Given the description of an element on the screen output the (x, y) to click on. 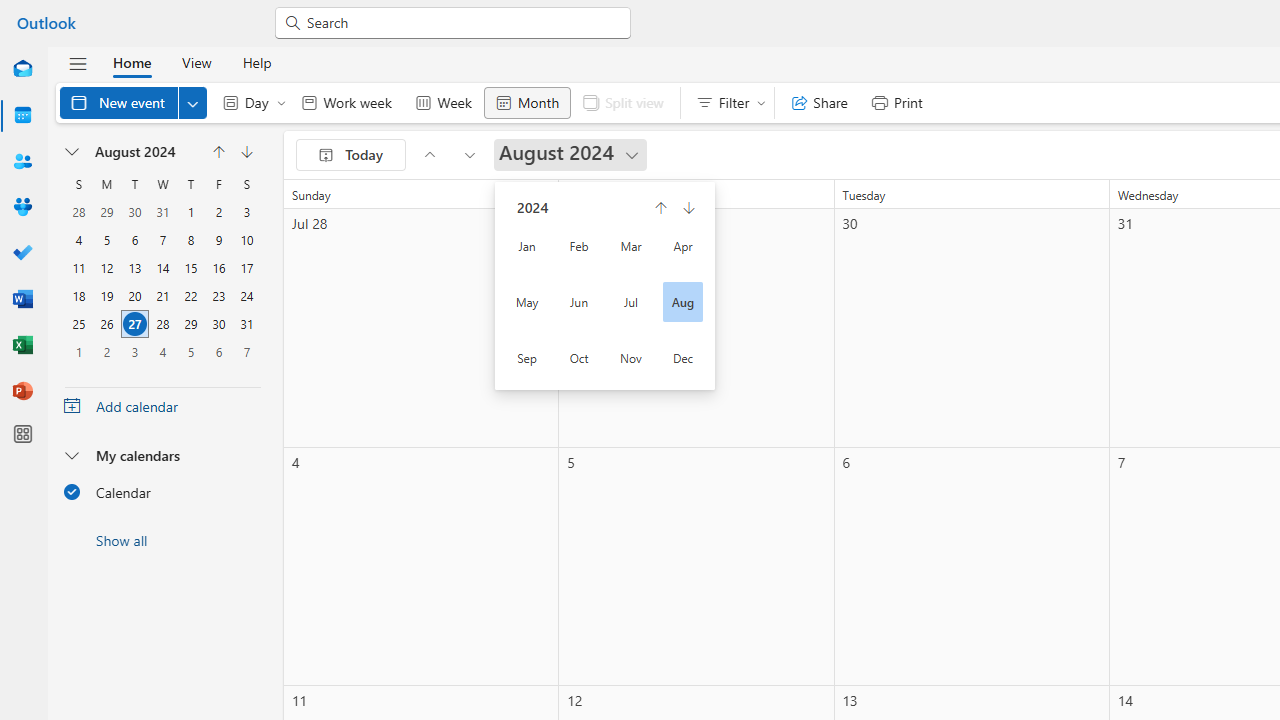
1, September, 2024 (78, 351)
3, September, 2024 (134, 351)
4, September, 2024 (162, 351)
8, August, 2024 (190, 240)
30, August, 2024 (218, 323)
27, August, 2024 (134, 323)
7, August, 2024 (163, 239)
Friday (218, 183)
Calendar (22, 115)
31, August, 2024 (246, 323)
4, September, 2024 (163, 351)
System (10, 11)
Calendar (162, 491)
Expand to see more New options (192, 102)
Day (249, 102)
